Given the description of an element on the screen output the (x, y) to click on. 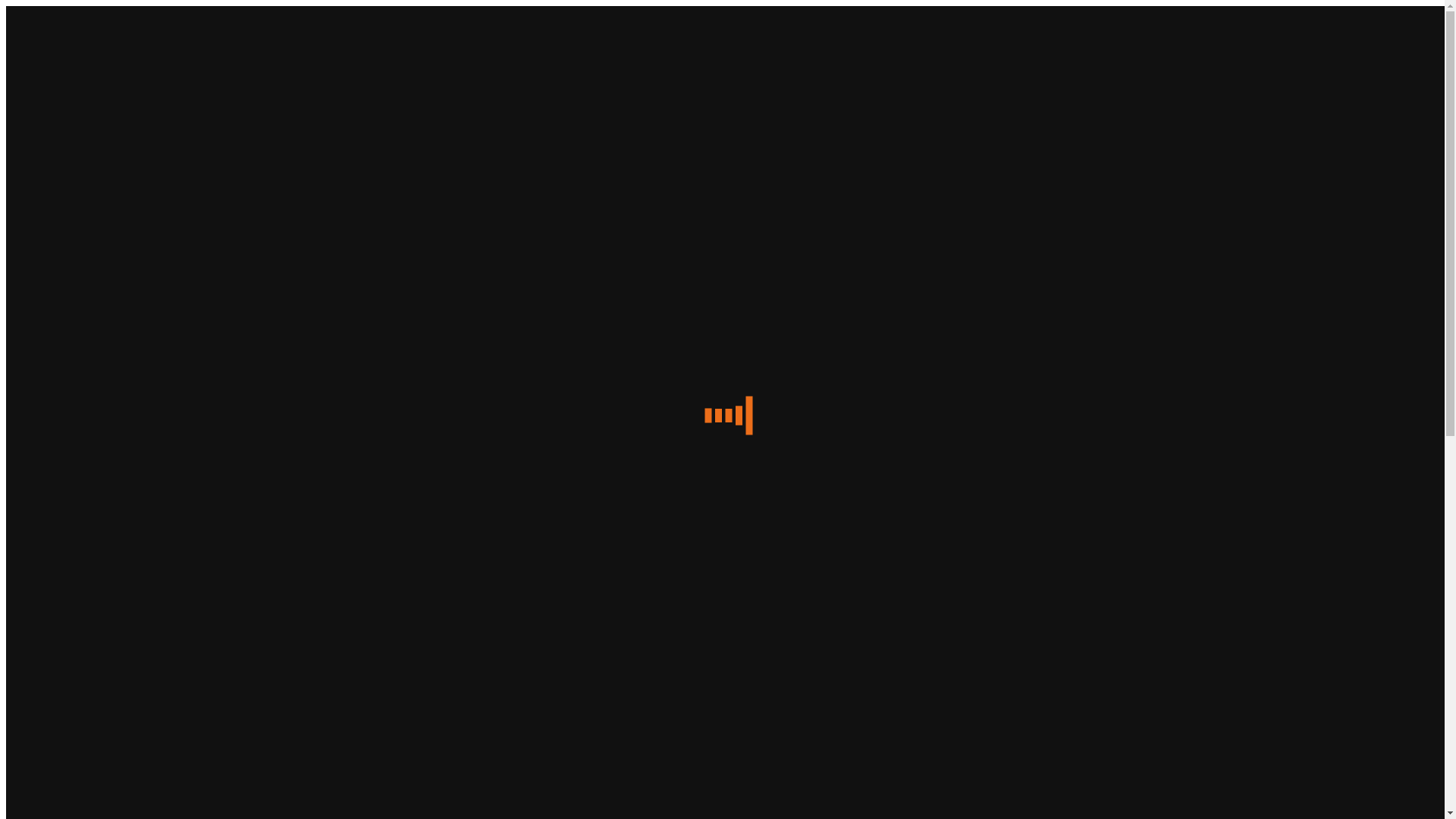
About Element type: text (51, 172)
info@haacontractors.com.au Element type: text (105, 711)
Capabilities Element type: text (65, 186)
Contact Element type: text (55, 133)
About Element type: text (51, 92)
Contact Element type: text (55, 213)
Capabilities Element type: text (65, 106)
LinkedIn Element type: text (58, 765)
Projects Element type: text (55, 200)
Projects Element type: text (55, 119)
Home Element type: text (50, 78)
Home Element type: text (50, 159)
0402 470 306 Element type: text (69, 683)
Skip to content Element type: text (42, 12)
